Given the description of an element on the screen output the (x, y) to click on. 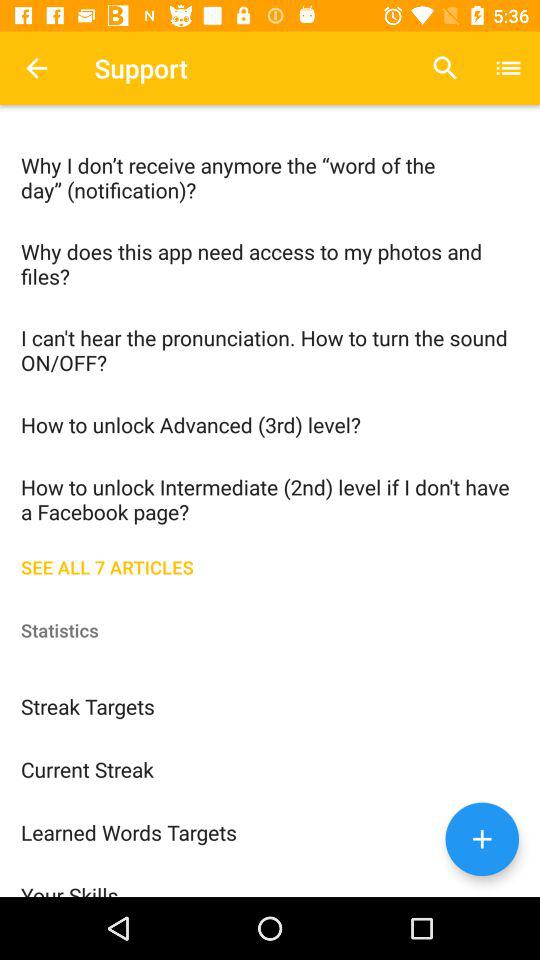
select the learned words targets item (270, 831)
